Given the description of an element on the screen output the (x, y) to click on. 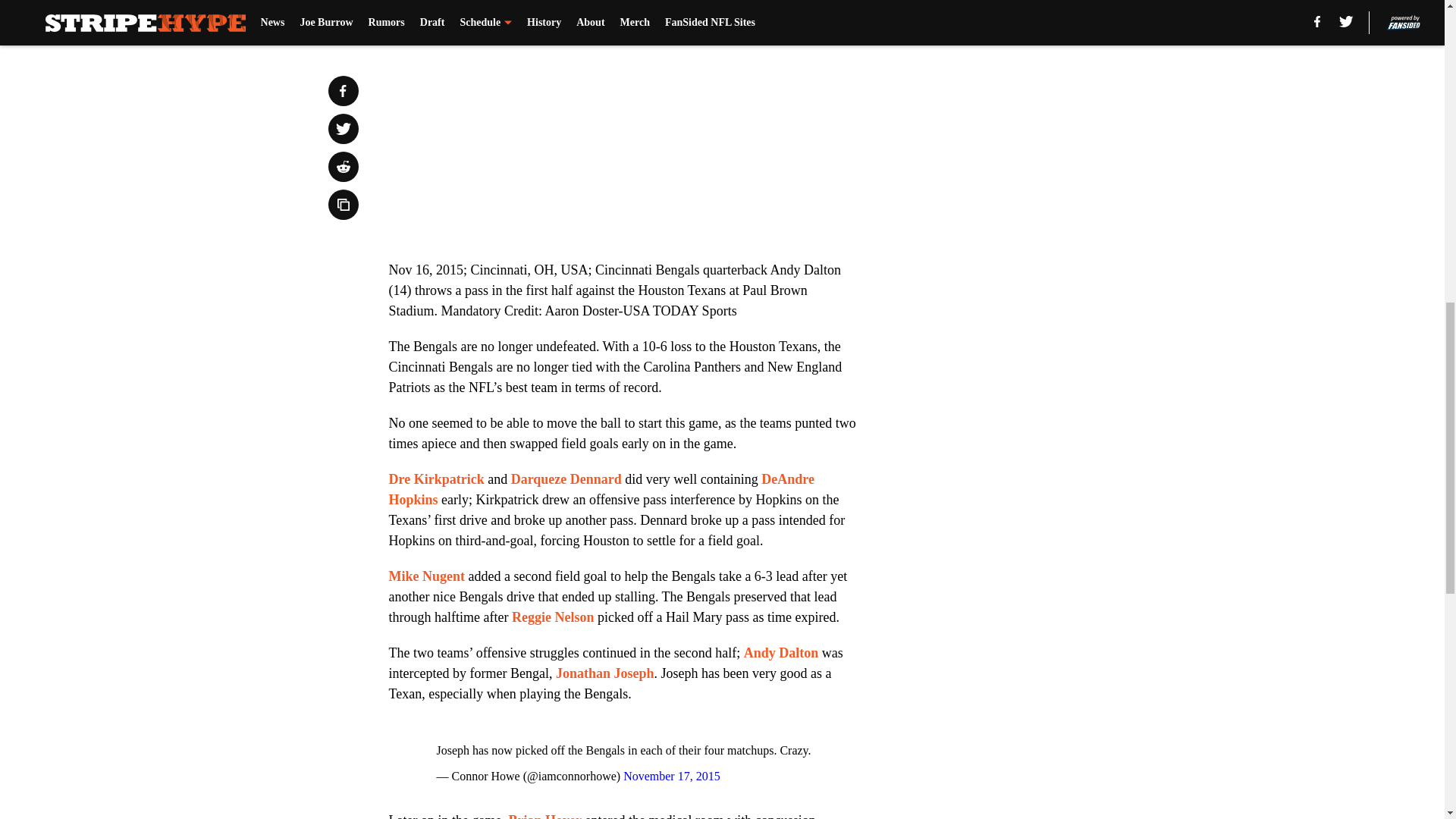
Andy Dalton (781, 652)
Jonathan Joseph (604, 672)
Dre Kirkpatrick (435, 478)
DeAndre Hopkins (600, 488)
November 17, 2015 (671, 775)
Mike Nugent (426, 575)
Darqueze Dennard (566, 478)
Reggie Nelson (553, 616)
Brian Hoyer (544, 816)
